Given the description of an element on the screen output the (x, y) to click on. 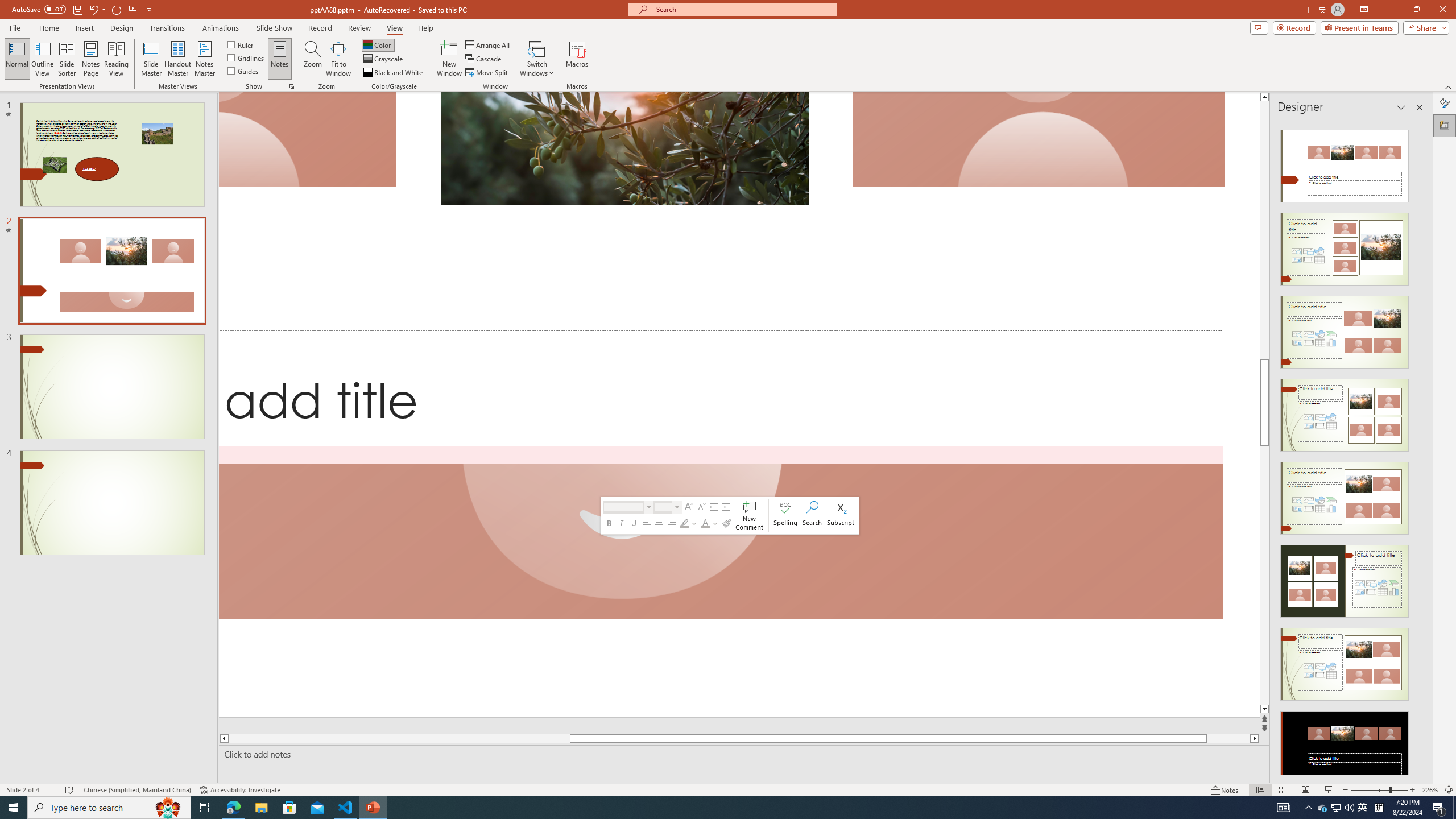
Camera 21, No camera detected. (721, 532)
New Comment (749, 515)
Slide Master (151, 58)
Spelling... (785, 515)
